Given the description of an element on the screen output the (x, y) to click on. 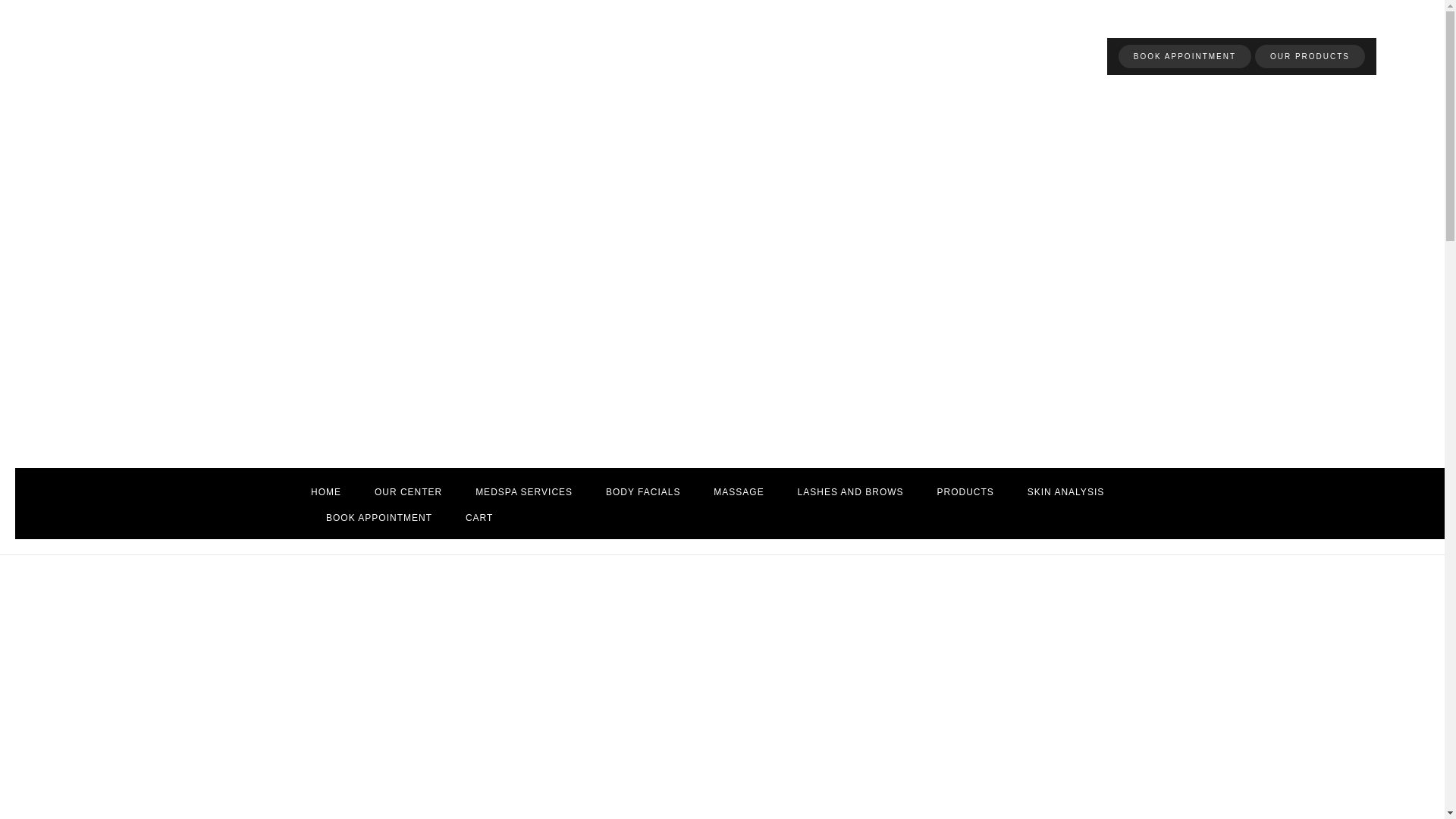
BOOK APPOINTMENT (1184, 56)
OUR CENTER (408, 491)
HOME (325, 491)
Our Center (408, 491)
MEDSPA SERVICES (524, 491)
MEDSPA Services (524, 491)
OUR PRODUCTS (1310, 56)
Home (325, 491)
